Given the description of an element on the screen output the (x, y) to click on. 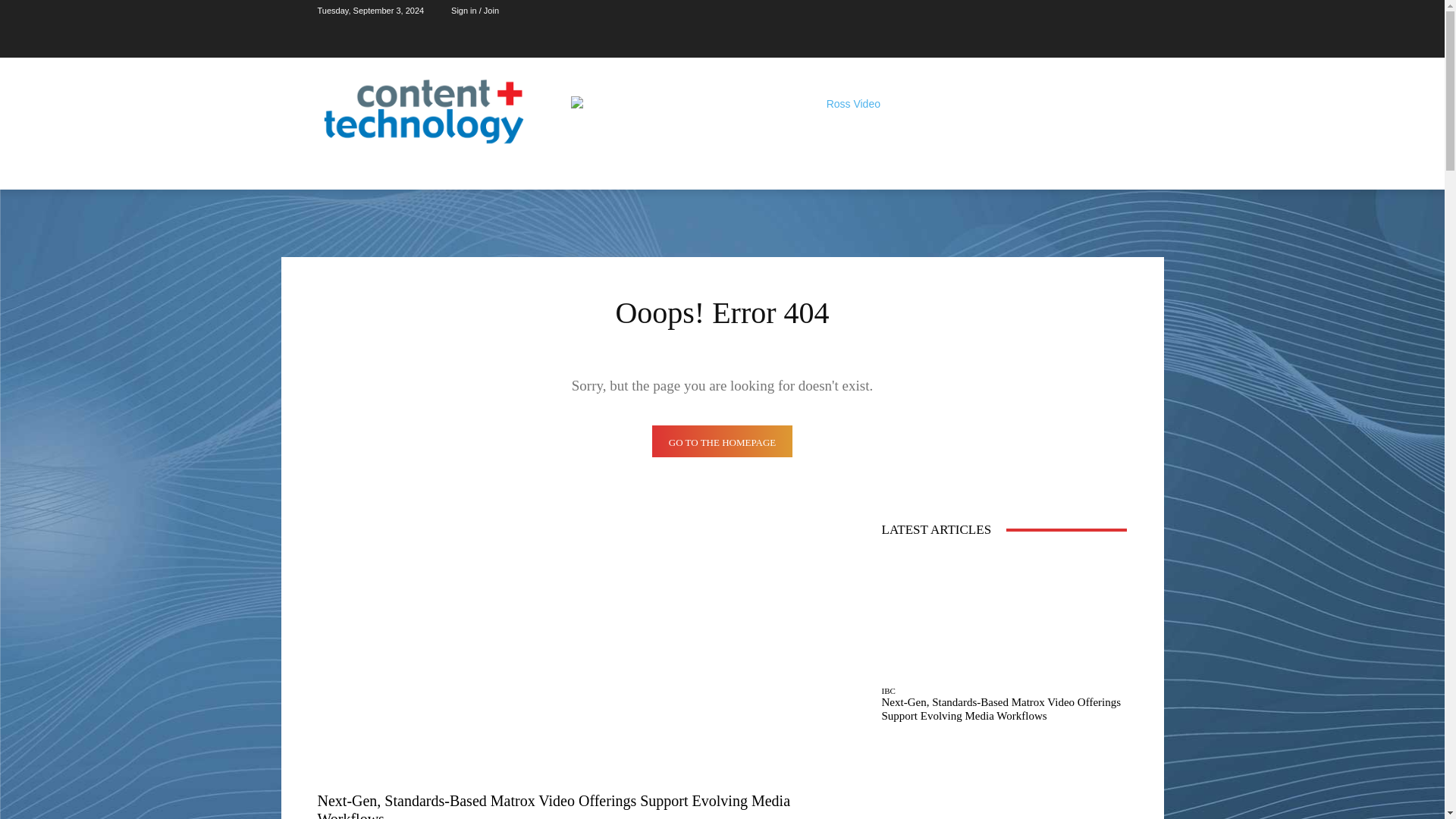
Ross Video  (846, 130)
